Given the description of an element on the screen output the (x, y) to click on. 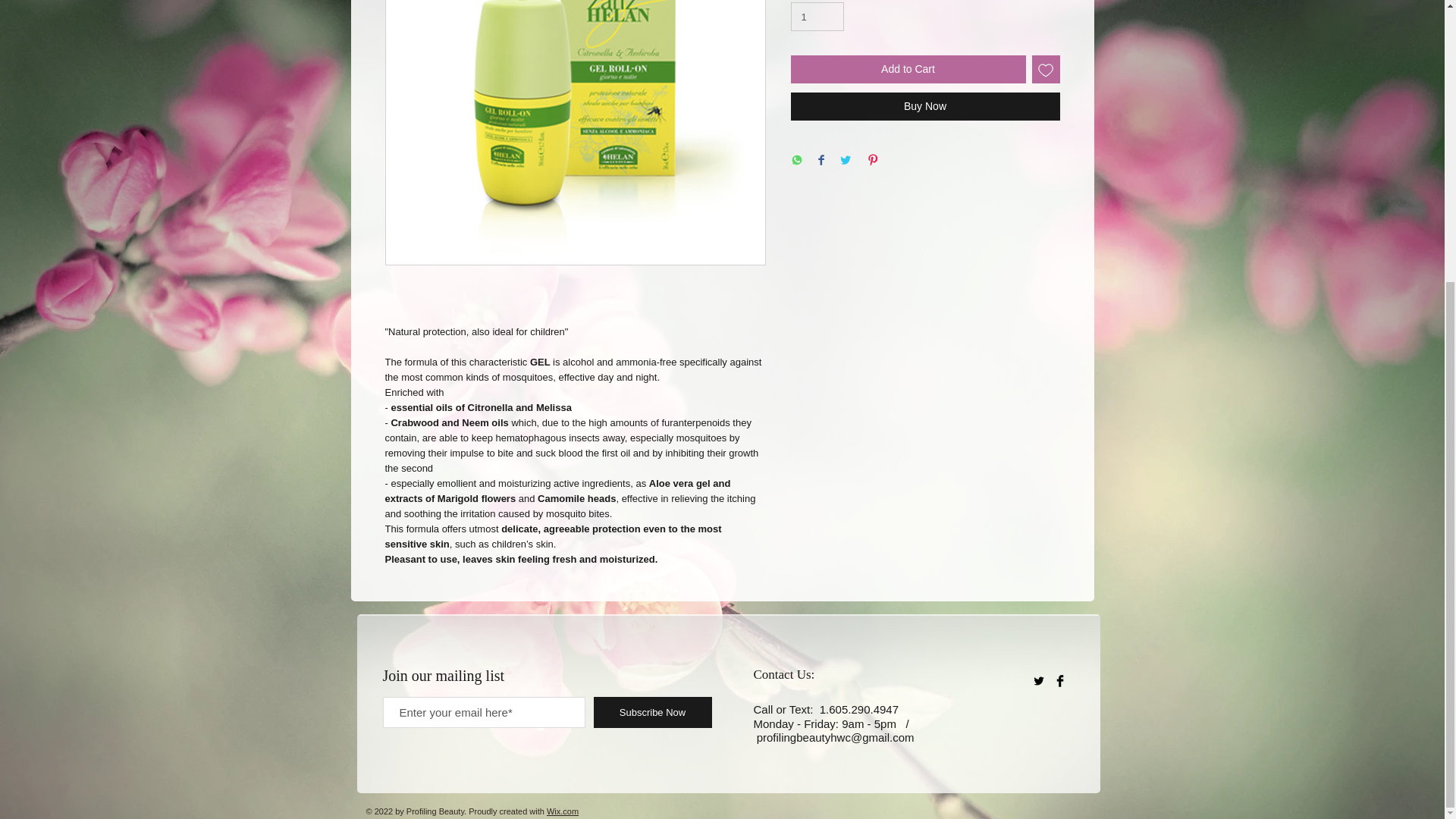
Add to Cart (907, 69)
Subscribe Now (651, 712)
1 (817, 16)
Buy Now (924, 106)
Wix.com (562, 810)
